Given the description of an element on the screen output the (x, y) to click on. 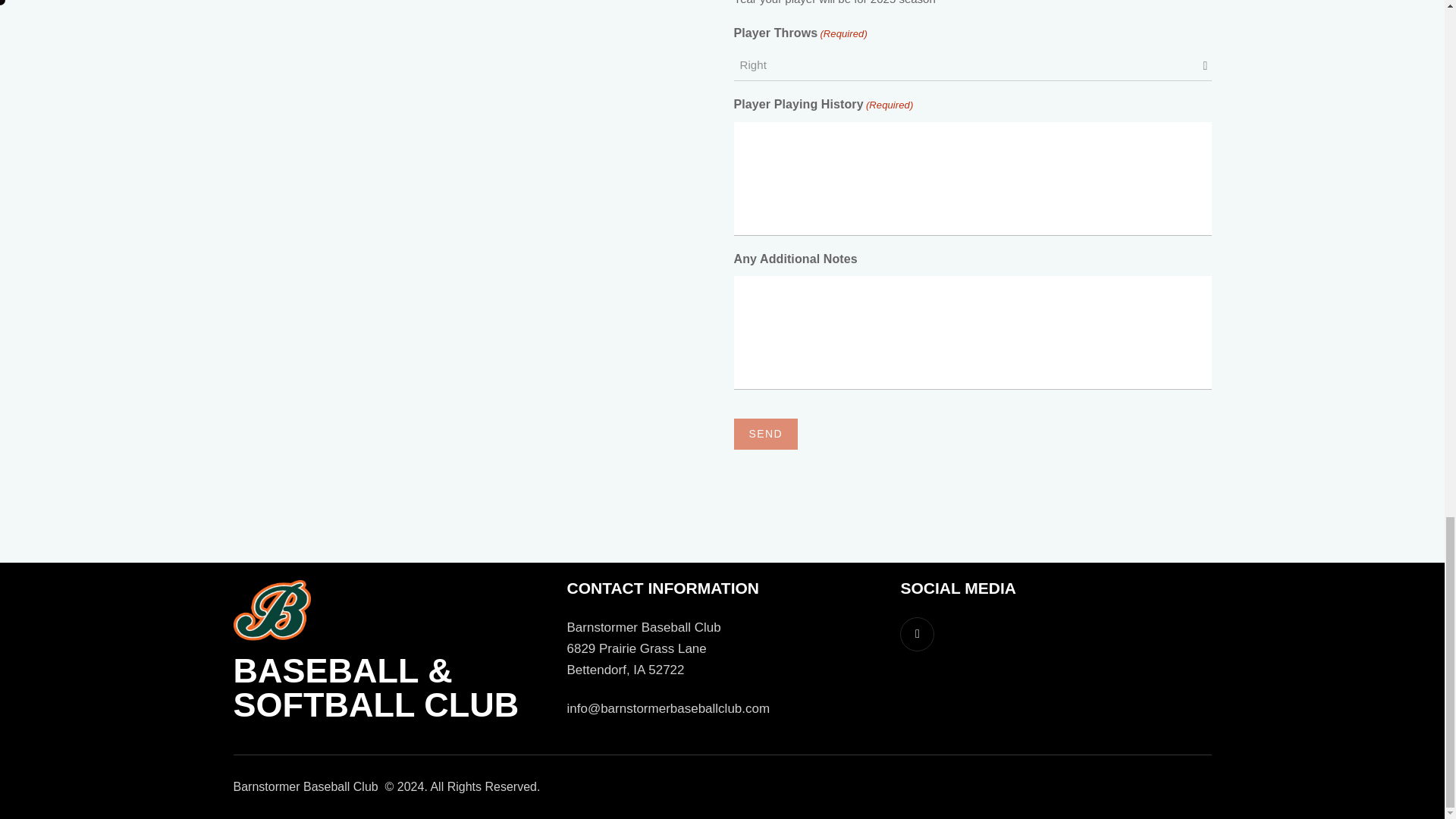
Send (765, 433)
